Given the description of an element on the screen output the (x, y) to click on. 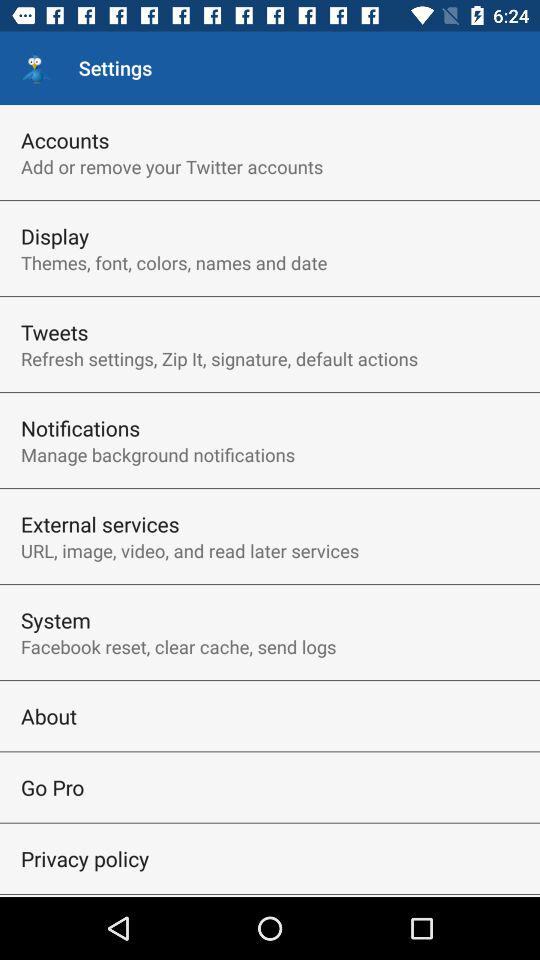
scroll until privacy policy (85, 858)
